Given the description of an element on the screen output the (x, y) to click on. 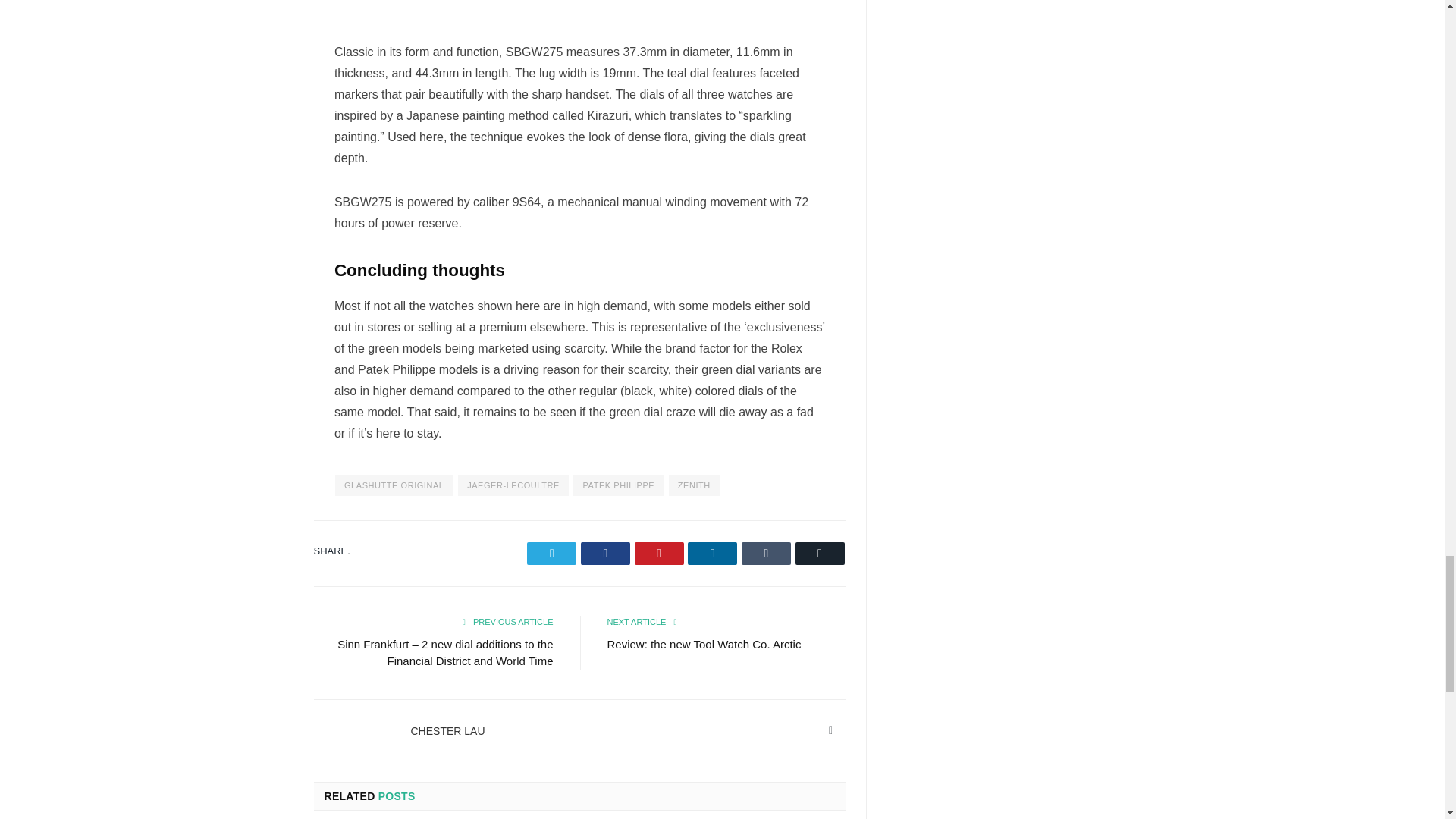
Twitter (551, 553)
LinkedIn (831, 730)
Posts by Chester Lau (447, 730)
PATEK PHILIPPE (618, 485)
Share on LinkedIn (711, 553)
GLASHUTTE ORIGINAL (393, 485)
JAEGER-LECOULTRE (513, 485)
Share via Email (819, 553)
ZENITH (693, 485)
Tweet It (551, 553)
Share on Pinterest (659, 553)
Facebook (605, 553)
Share on Tumblr (765, 553)
Share on Facebook (605, 553)
